Given the description of an element on the screen output the (x, y) to click on. 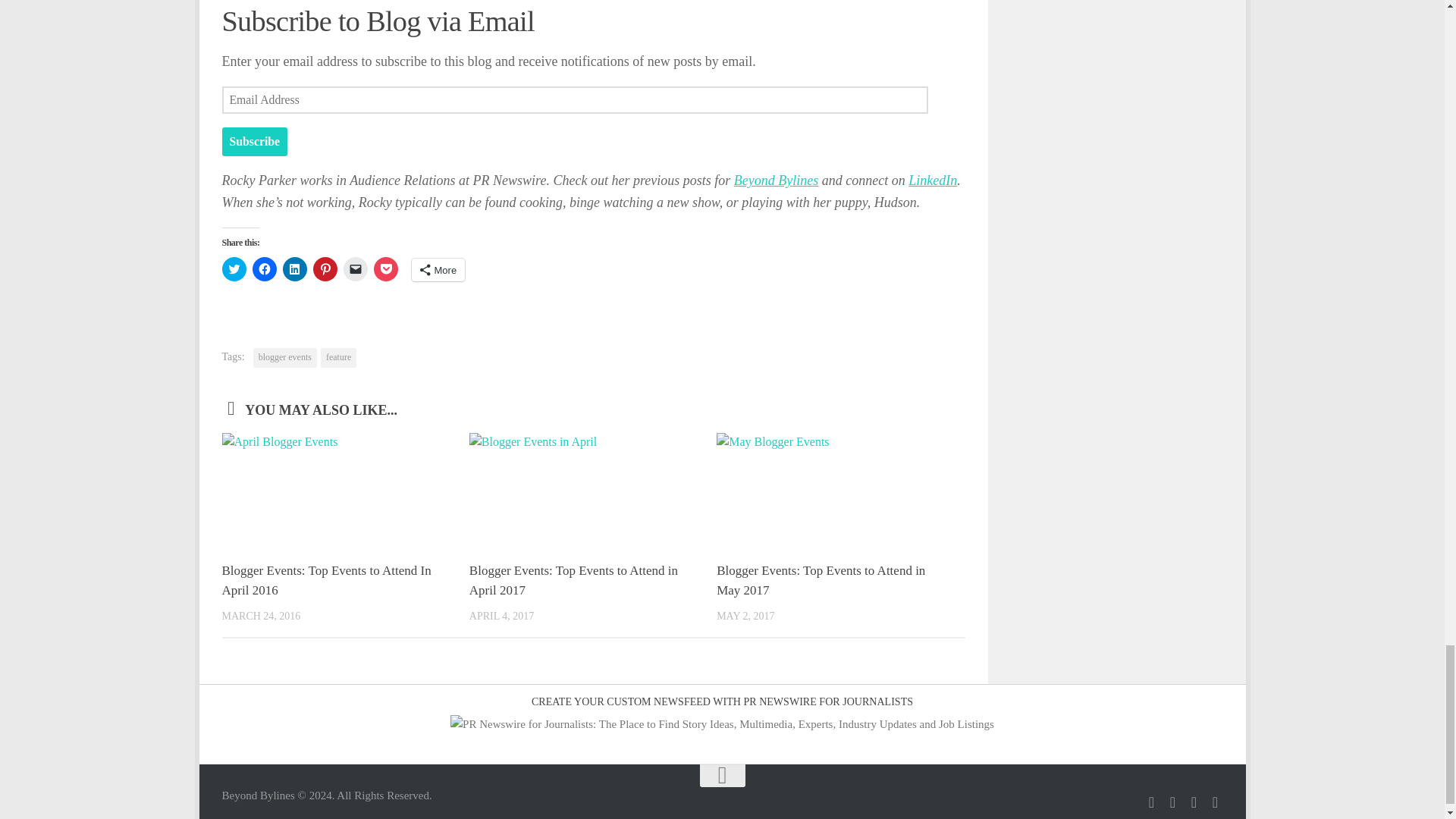
Click to share on Twitter (233, 269)
Click to share on LinkedIn (293, 269)
Follow us on Twitter (1150, 801)
Click to share on Pocket (384, 269)
Click to share on Pinterest (324, 269)
Click to email a link to a friend (354, 269)
Click to share on Facebook (263, 269)
